Given the description of an element on the screen output the (x, y) to click on. 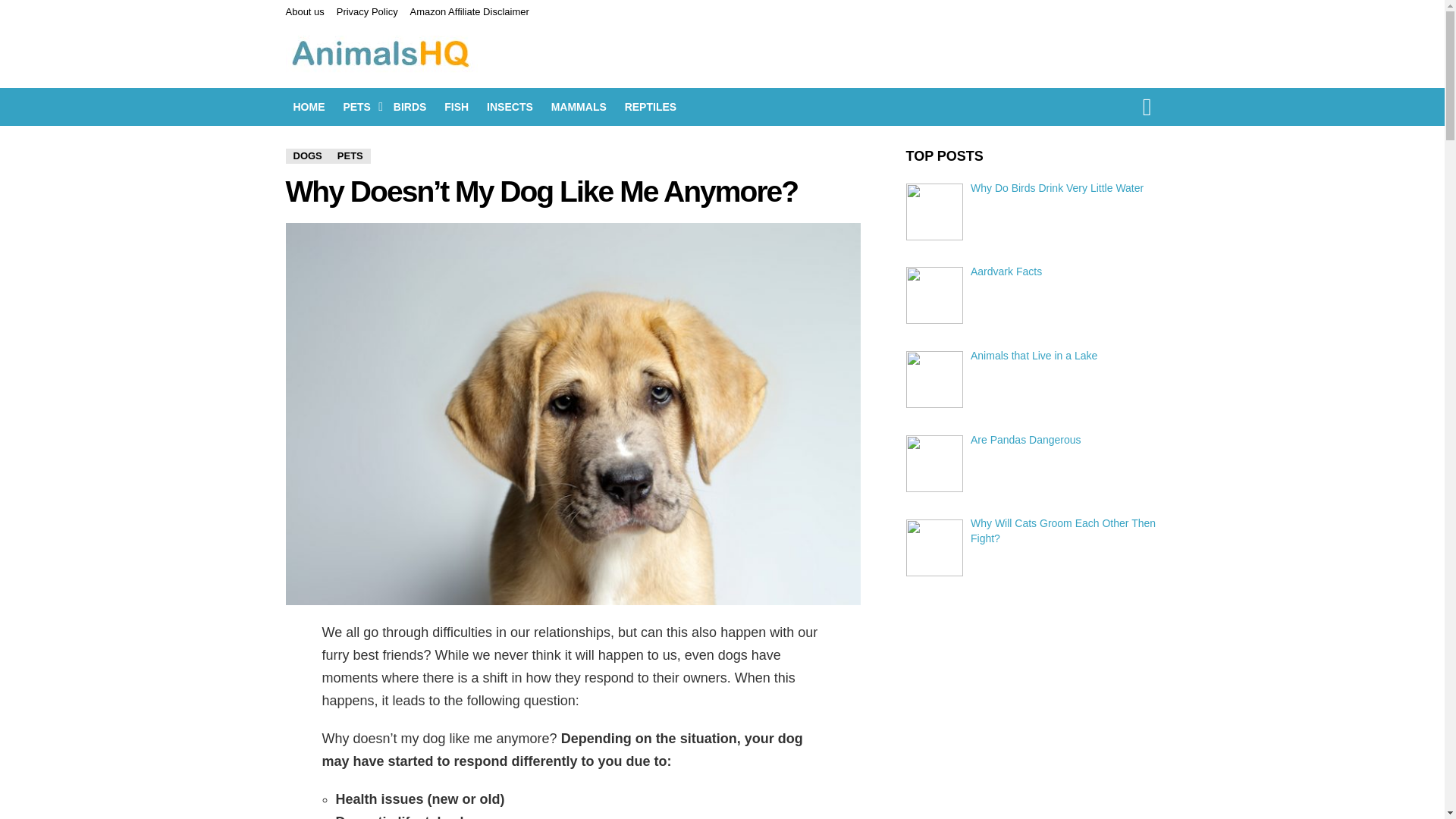
Are Pandas Dangerous (1026, 439)
Privacy Policy (366, 12)
Animals that Live in a Lake (1034, 355)
HOME (308, 106)
MAMMALS (578, 106)
SEARCH (1146, 106)
Why Do Birds Drink Very Little Water (1056, 187)
PETS (350, 155)
REPTILES (650, 106)
BIRDS (409, 106)
DOGS (307, 155)
PETS (358, 106)
Aardvark Facts (1006, 271)
Amazon Affiliate Disclaimer (469, 12)
INSECTS (509, 106)
